Given the description of an element on the screen output the (x, y) to click on. 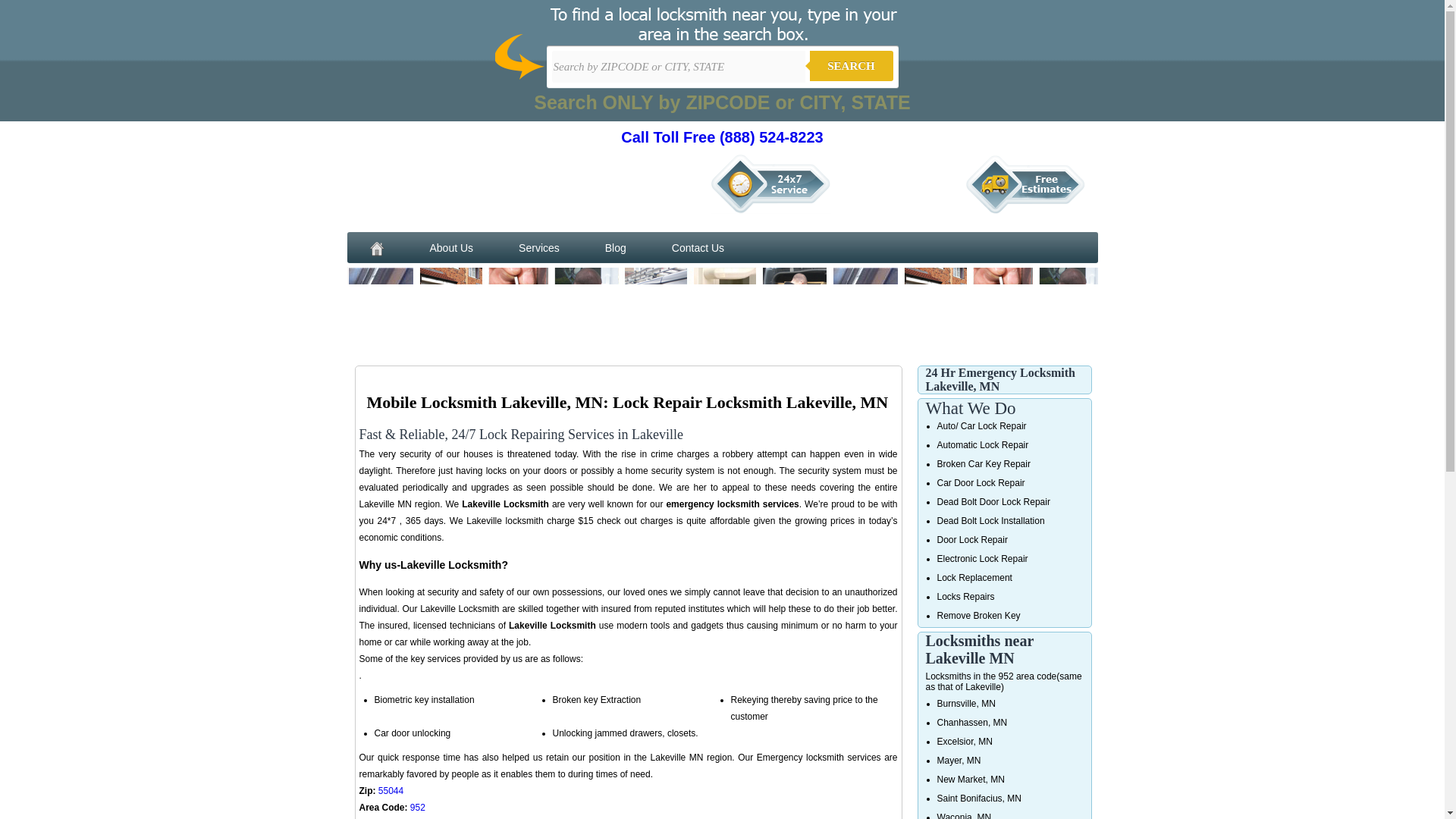
Contact Us (697, 247)
Blog (615, 247)
952 (417, 807)
SEARCH (851, 65)
55044 (390, 790)
Services (539, 247)
About Us (451, 247)
